Given the description of an element on the screen output the (x, y) to click on. 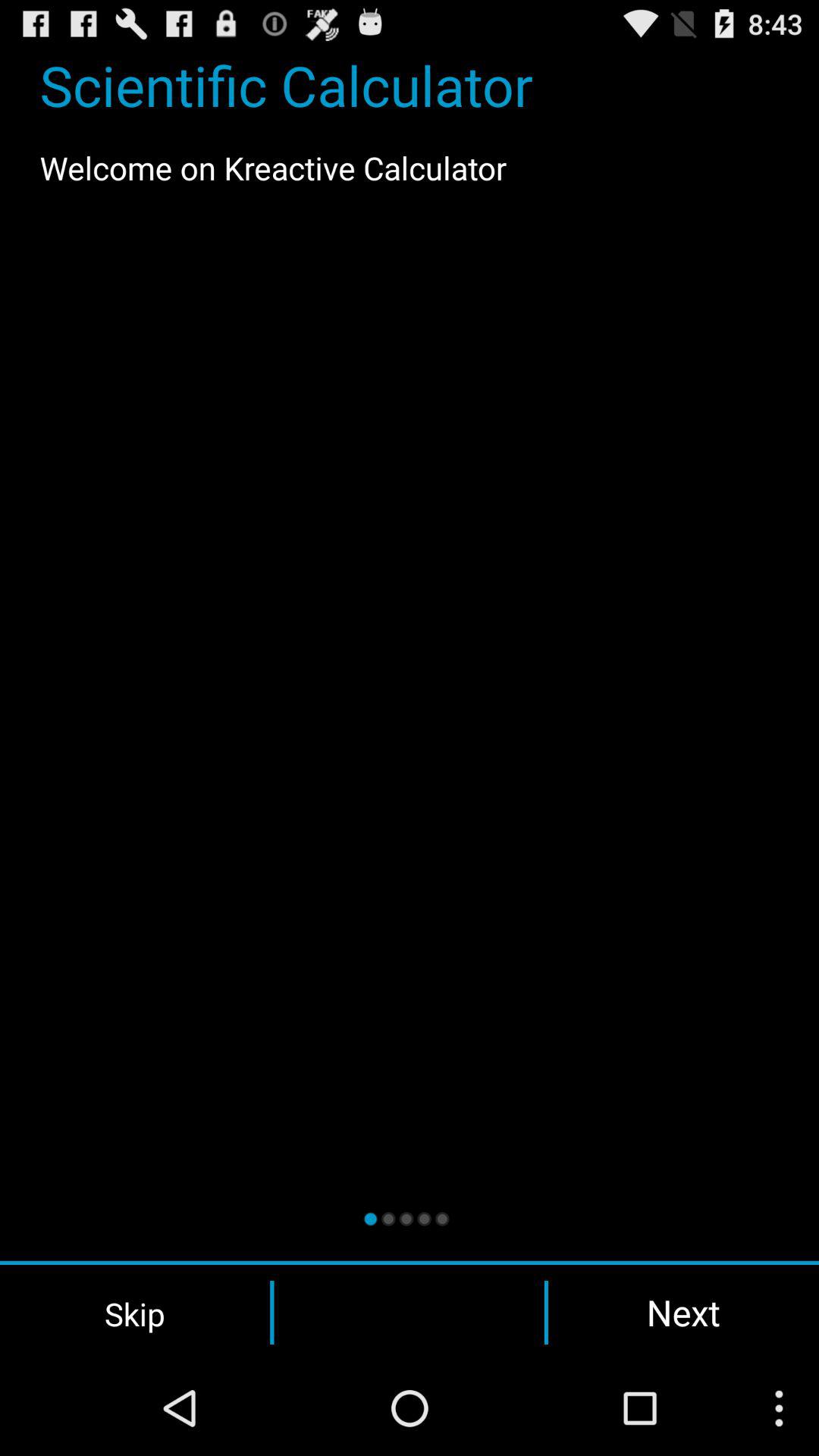
press the skip icon (135, 1313)
